Given the description of an element on the screen output the (x, y) to click on. 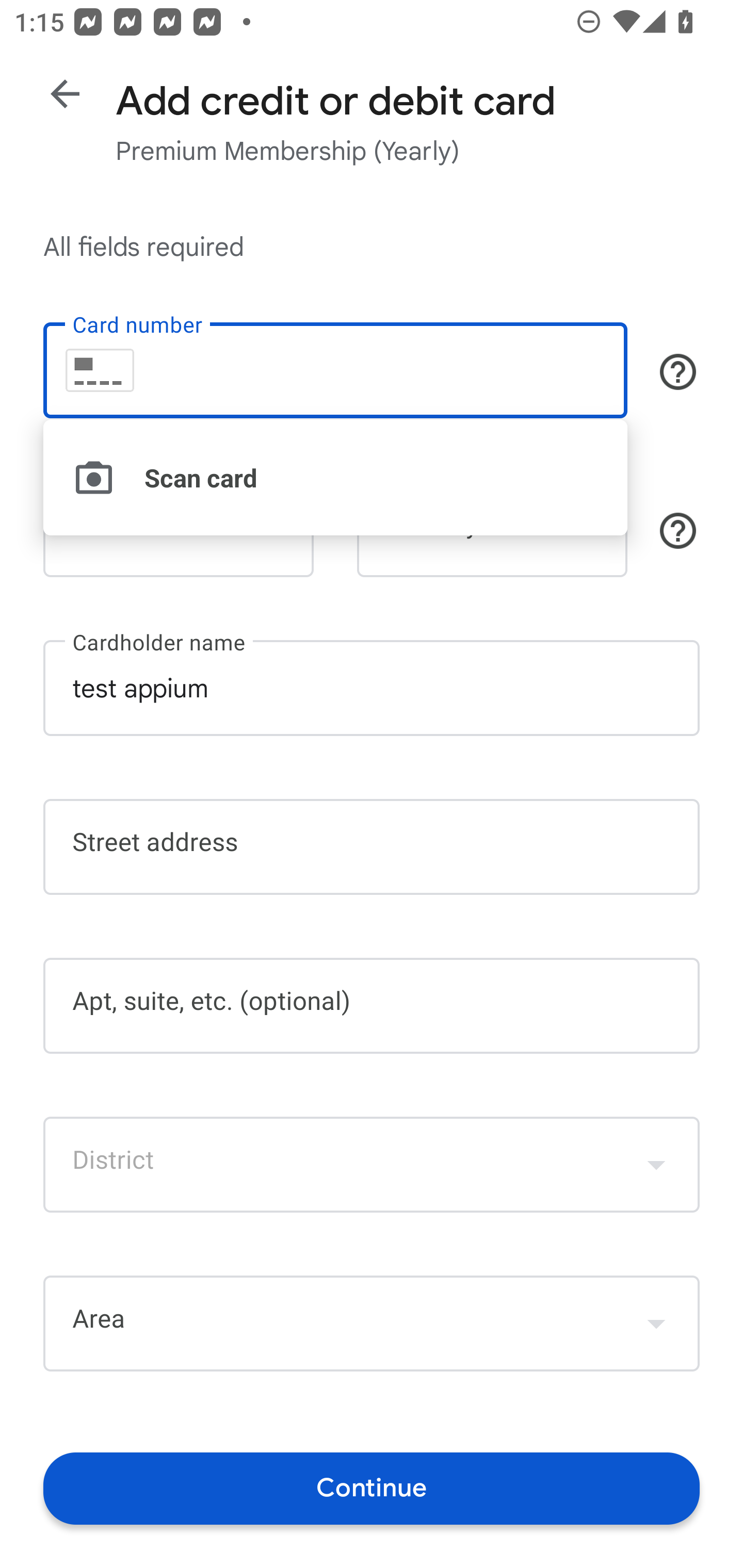
Back (64, 93)
Card number (335, 370)
Button, shows cards that are accepted for payment (677, 371)
Expiration date, 2 digit month, 2 digit year (178, 529)
Security code (492, 529)
Security code help (677, 530)
test appium (371, 687)
Street address (371, 847)
Apt, suite, etc. (optional) (371, 1005)
District (371, 1164)
Show dropdown menu (655, 1164)
Area (371, 1323)
Show dropdown menu (655, 1323)
Continue (371, 1487)
